Given the description of an element on the screen output the (x, y) to click on. 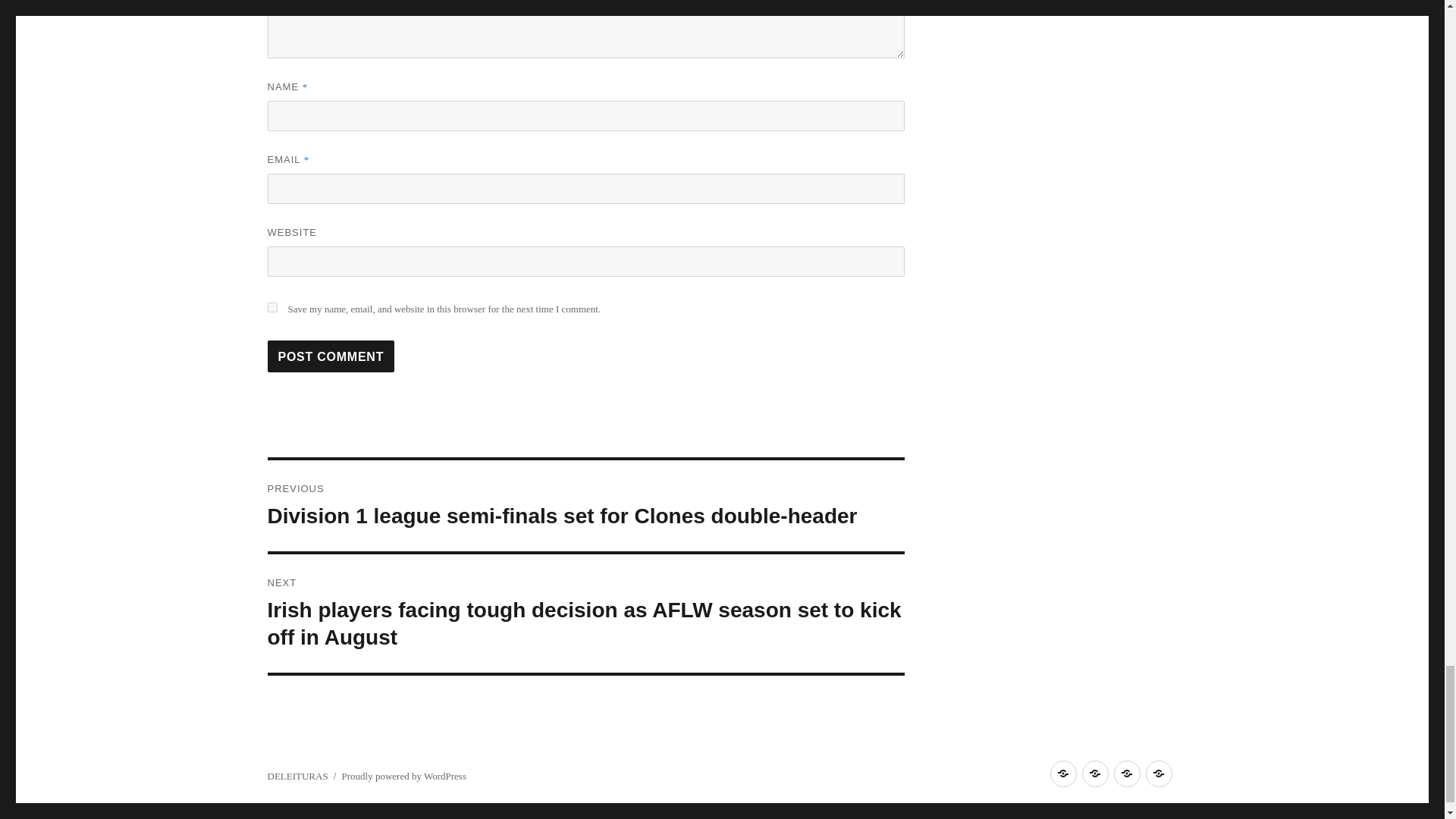
Post Comment (330, 356)
Post Comment (330, 356)
yes (271, 307)
